Given the description of an element on the screen output the (x, y) to click on. 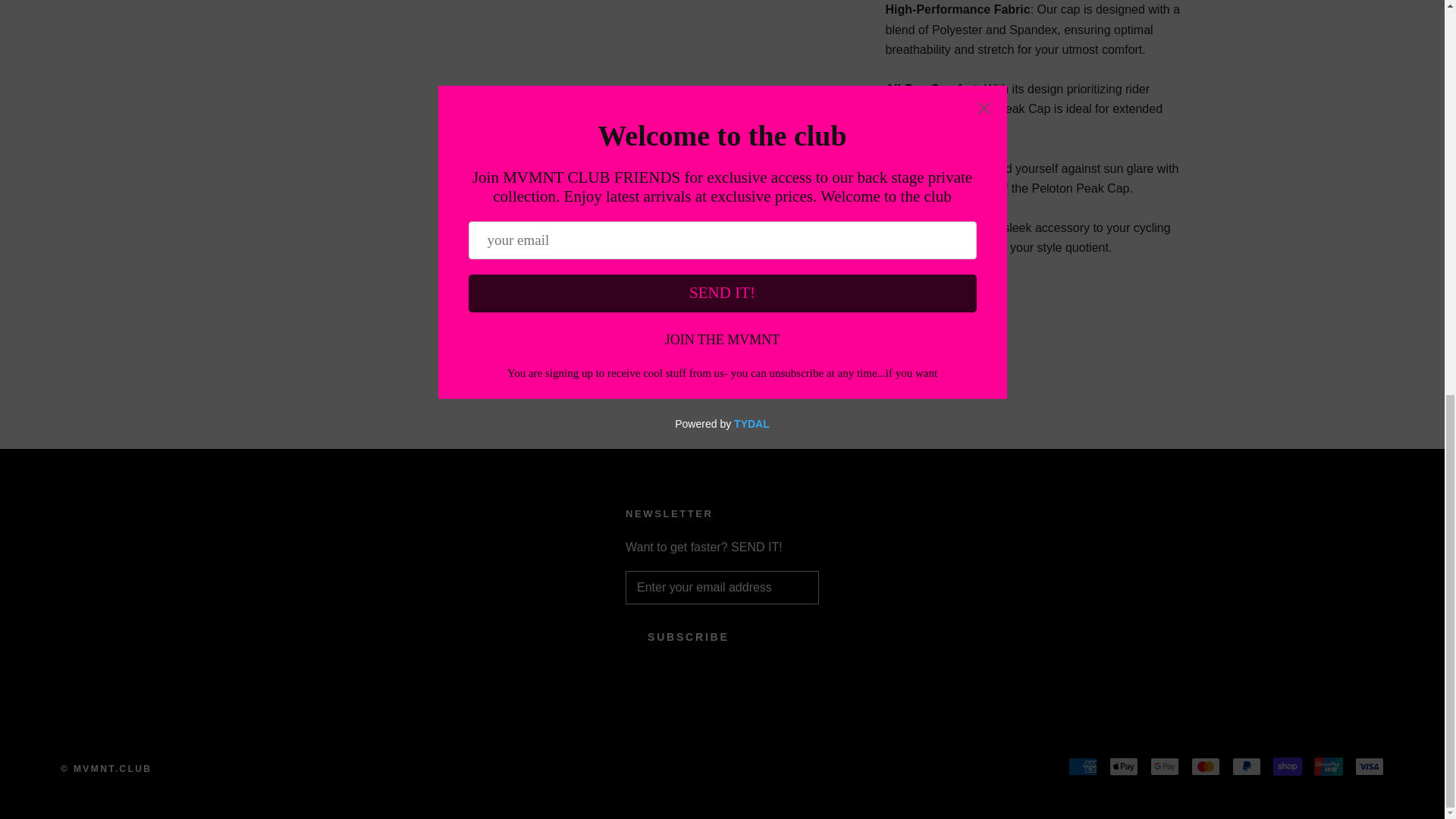
Visa (1369, 766)
Union Pay (1328, 766)
PayPal (1245, 766)
Shop Pay (1286, 766)
Google Pay (1164, 766)
Mastercard (1205, 766)
Apple Pay (1123, 766)
American Express (1082, 766)
